Given the description of an element on the screen output the (x, y) to click on. 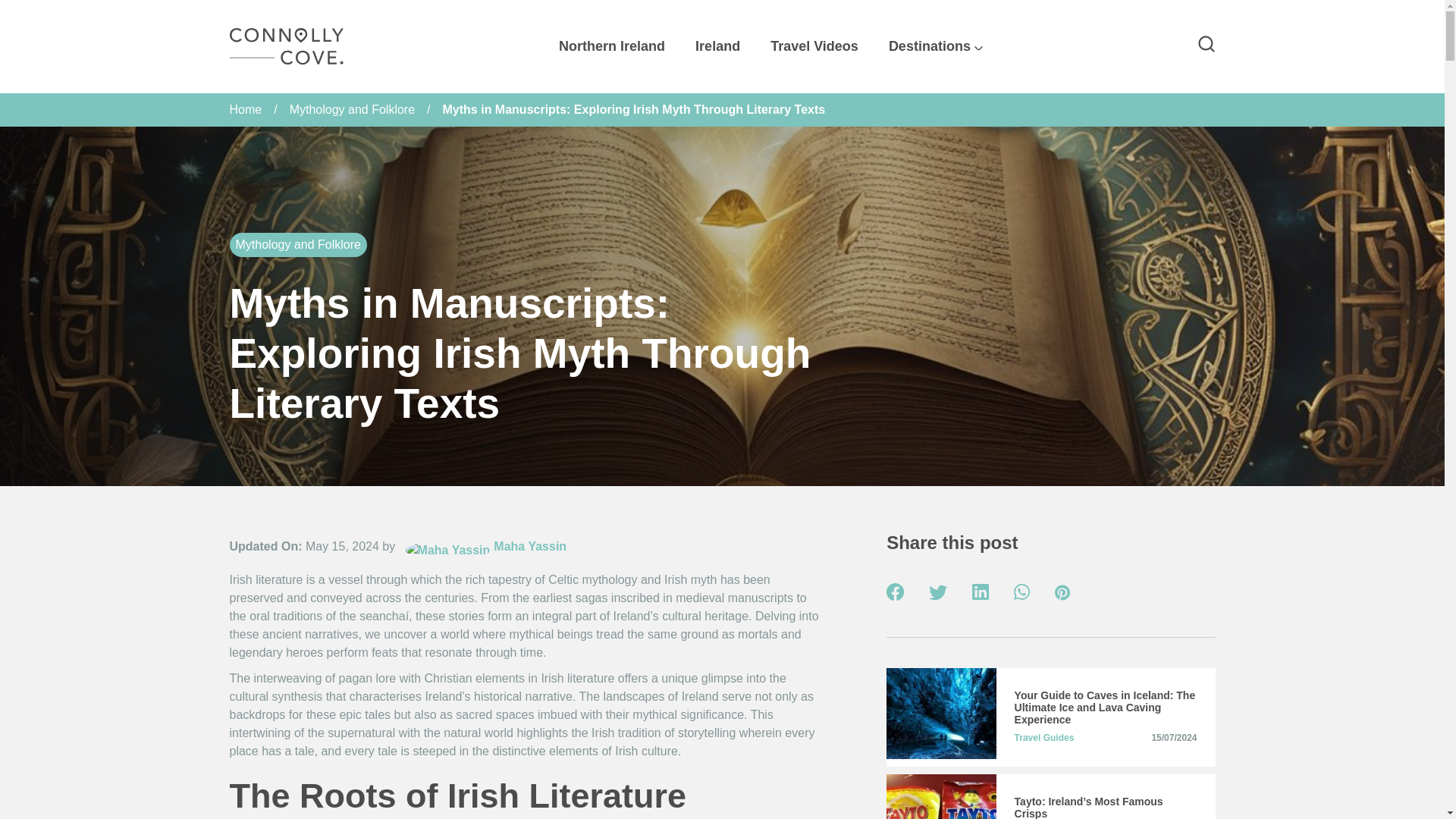
Destinations  (935, 46)
Travel Videos (814, 46)
Share on Twitter (937, 594)
Northern Ireland (611, 46)
